Given the description of an element on the screen output the (x, y) to click on. 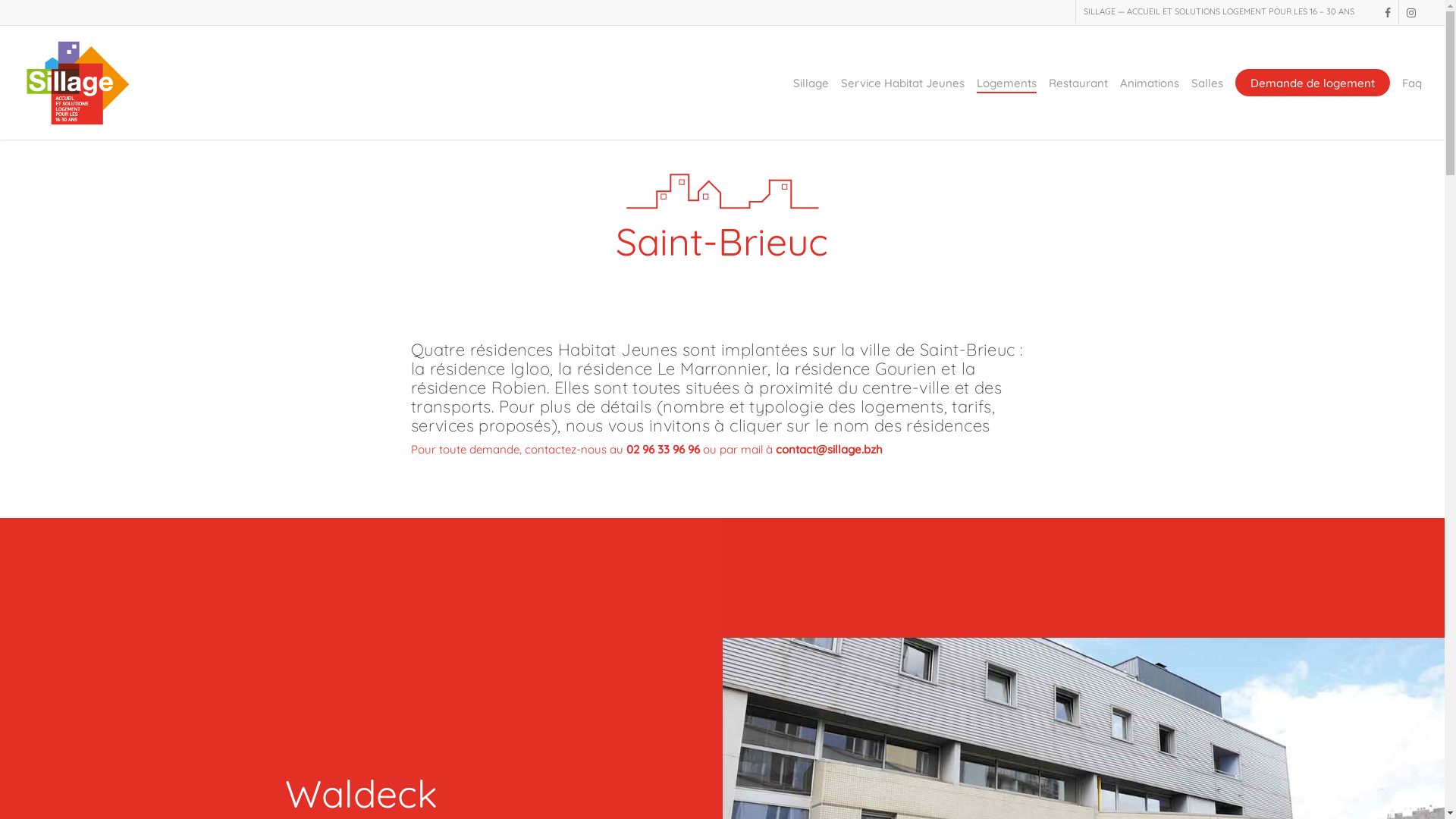
Faq Element type: text (1411, 82)
Animations Element type: text (1149, 82)
Restaurant Element type: text (1077, 82)
Demande de logement Element type: text (1312, 82)
Logements Element type: text (1006, 82)
Sillage Element type: text (810, 82)
contact@sillage.bzh Element type: text (828, 449)
Service Habitat Jeunes Element type: text (902, 82)
Salles Element type: text (1207, 82)
